Given the description of an element on the screen output the (x, y) to click on. 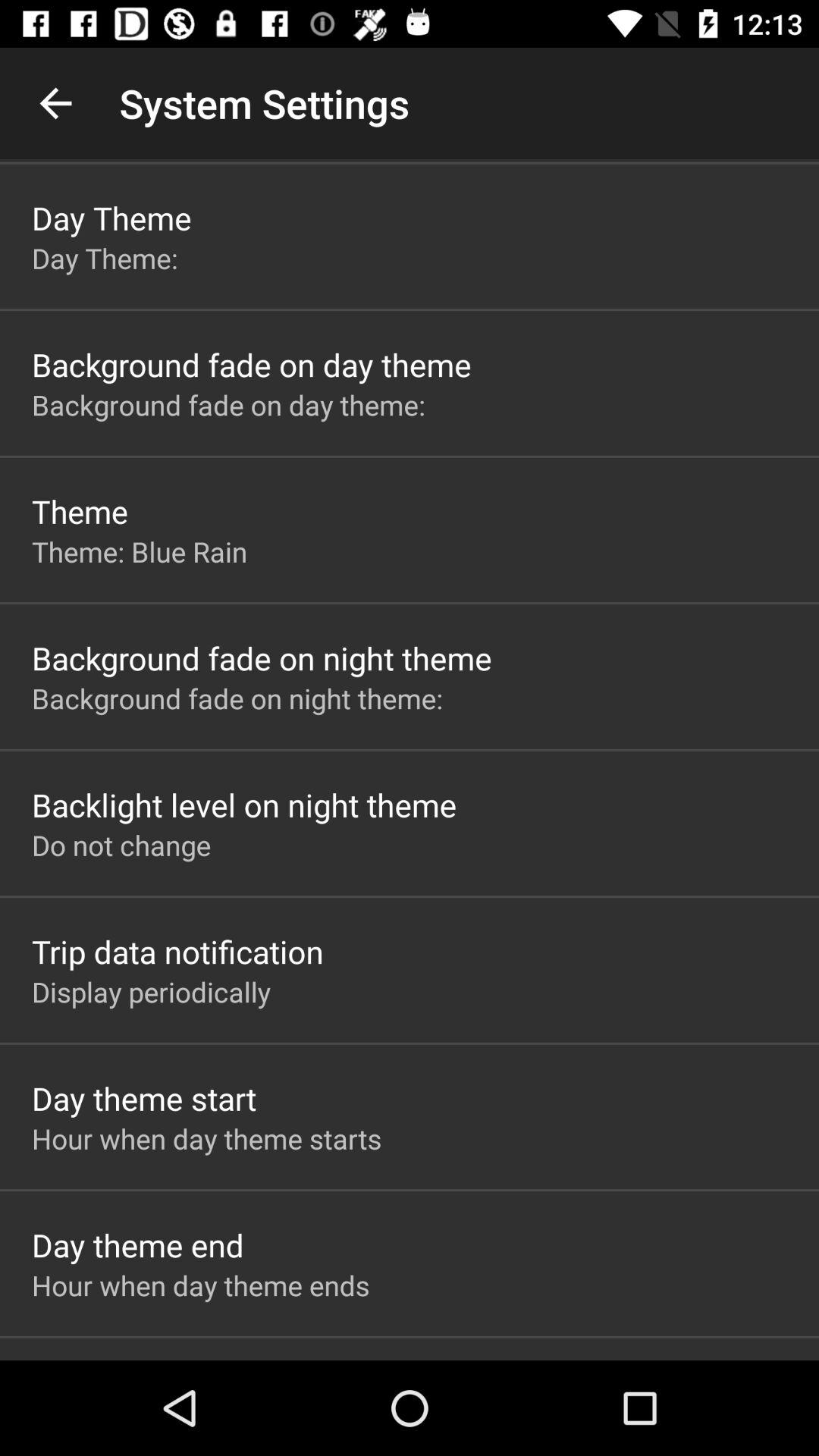
jump until do not change icon (121, 844)
